Given the description of an element on the screen output the (x, y) to click on. 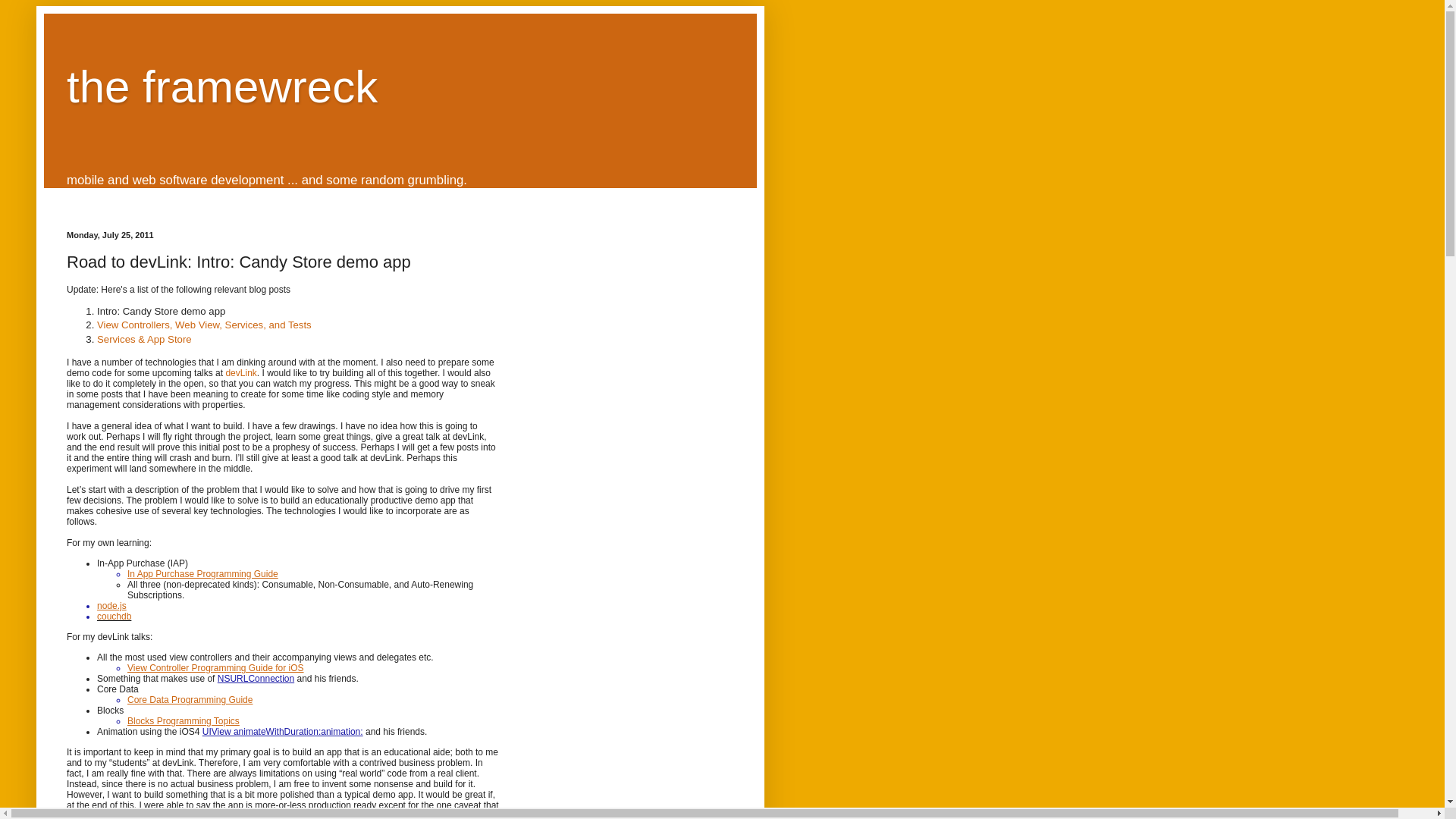
the framewreck (221, 86)
View Controller Programming Guide for iOS (216, 667)
devLink (240, 372)
NSURLConnection (255, 678)
Core Data Programming Guide (189, 699)
View Controllers, Web View, Services, and Tests (204, 324)
Blocks Programming Topics (184, 720)
couchdb (114, 615)
In App Purchase Programming Guide (203, 573)
node.js (111, 605)
UIView animateWithDuration:animation: (282, 731)
